Given the description of an element on the screen output the (x, y) to click on. 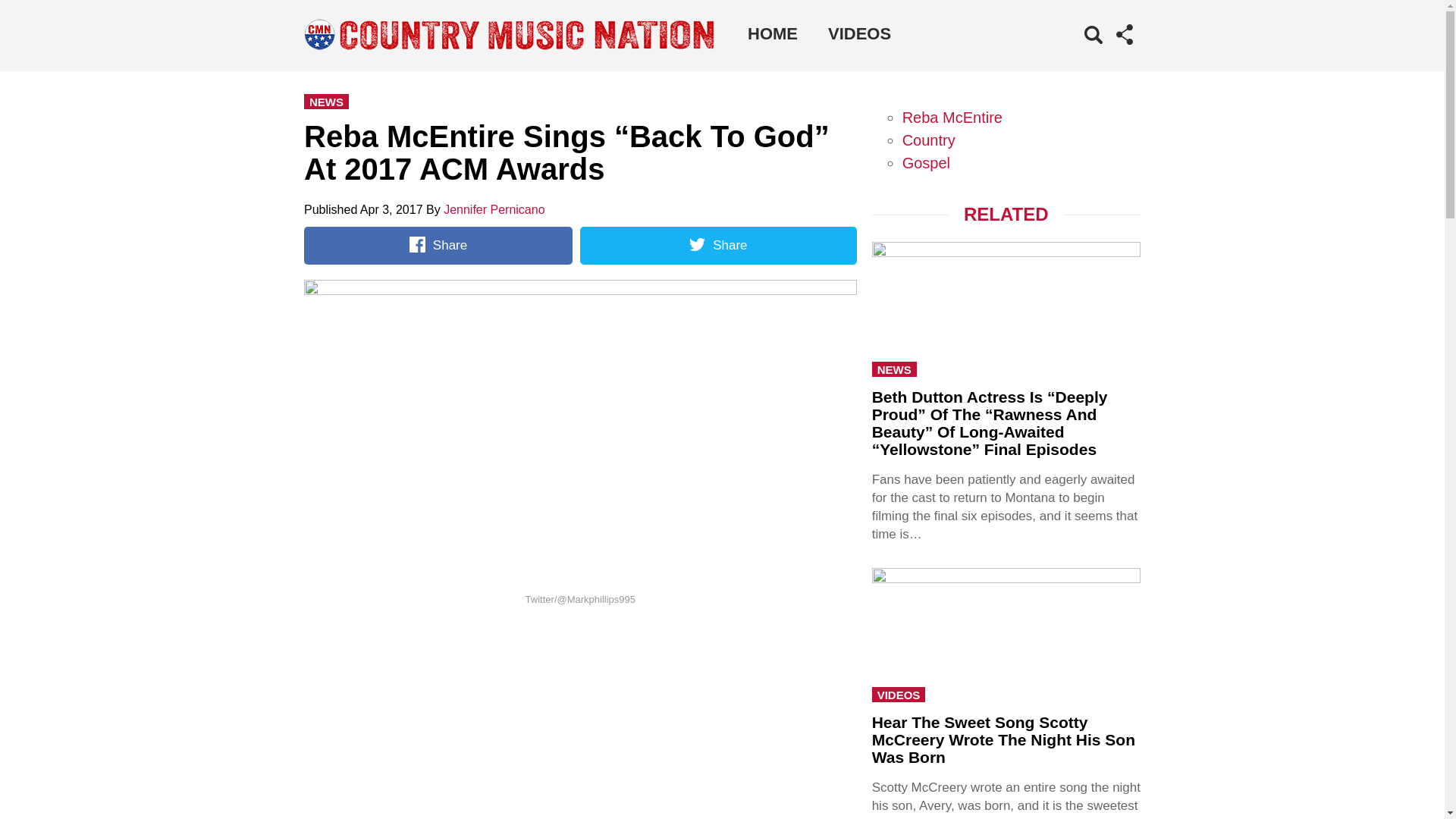
Gospel (926, 162)
Home (772, 33)
Share (438, 245)
Jennifer Pernicano (494, 209)
Reba McEntire (952, 117)
Social media links (1124, 34)
NEWS (326, 101)
ScottySonSongHeader (1006, 633)
Search (1071, 57)
VIDEOS (858, 33)
Share (717, 245)
Search (1071, 57)
Country (928, 139)
NEWS (894, 368)
HOME (772, 33)
